Given the description of an element on the screen output the (x, y) to click on. 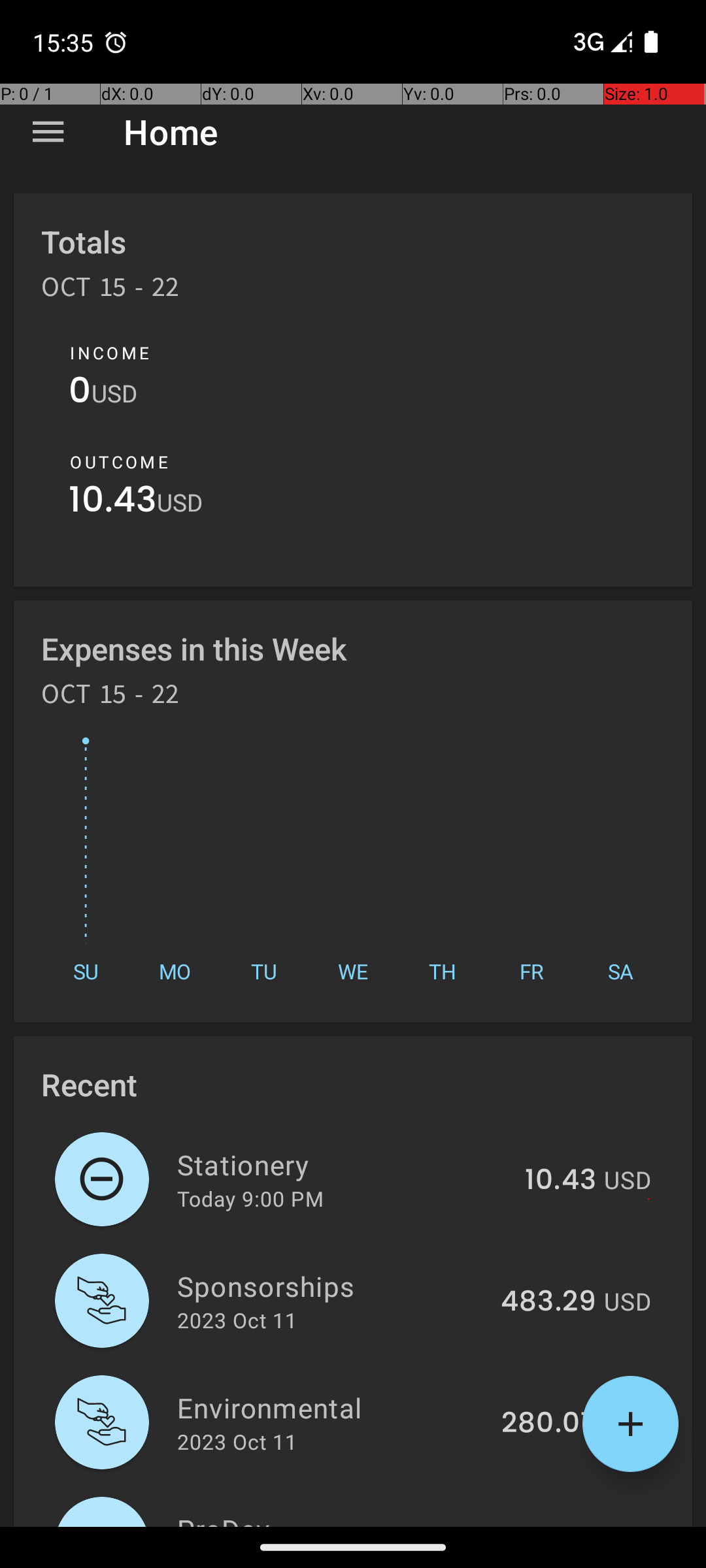
10.43 Element type: android.widget.TextView (112, 502)
483.29 Element type: android.widget.TextView (548, 1301)
Environmental Element type: android.widget.TextView (331, 1407)
280.07 Element type: android.widget.TextView (548, 1423)
473.43 Element type: android.widget.TextView (548, 1524)
